Given the description of an element on the screen output the (x, y) to click on. 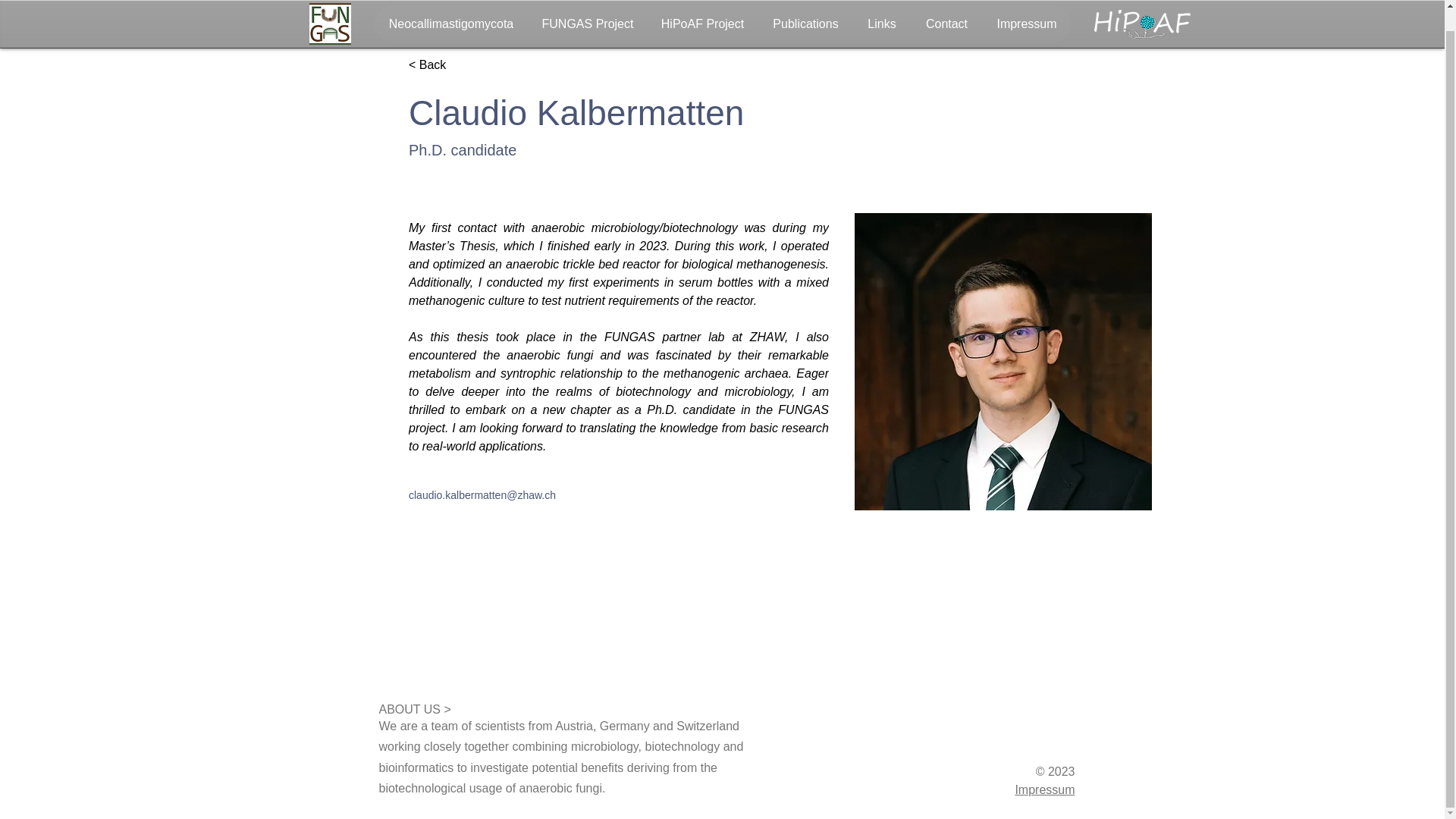
Publications (805, 11)
Links (880, 11)
Impressum (1026, 11)
Neocallimastigomycota (451, 11)
FUNGAS Project (586, 11)
Contact (945, 11)
Impressum (1044, 789)
HiPoAF Project (701, 11)
